Given the description of an element on the screen output the (x, y) to click on. 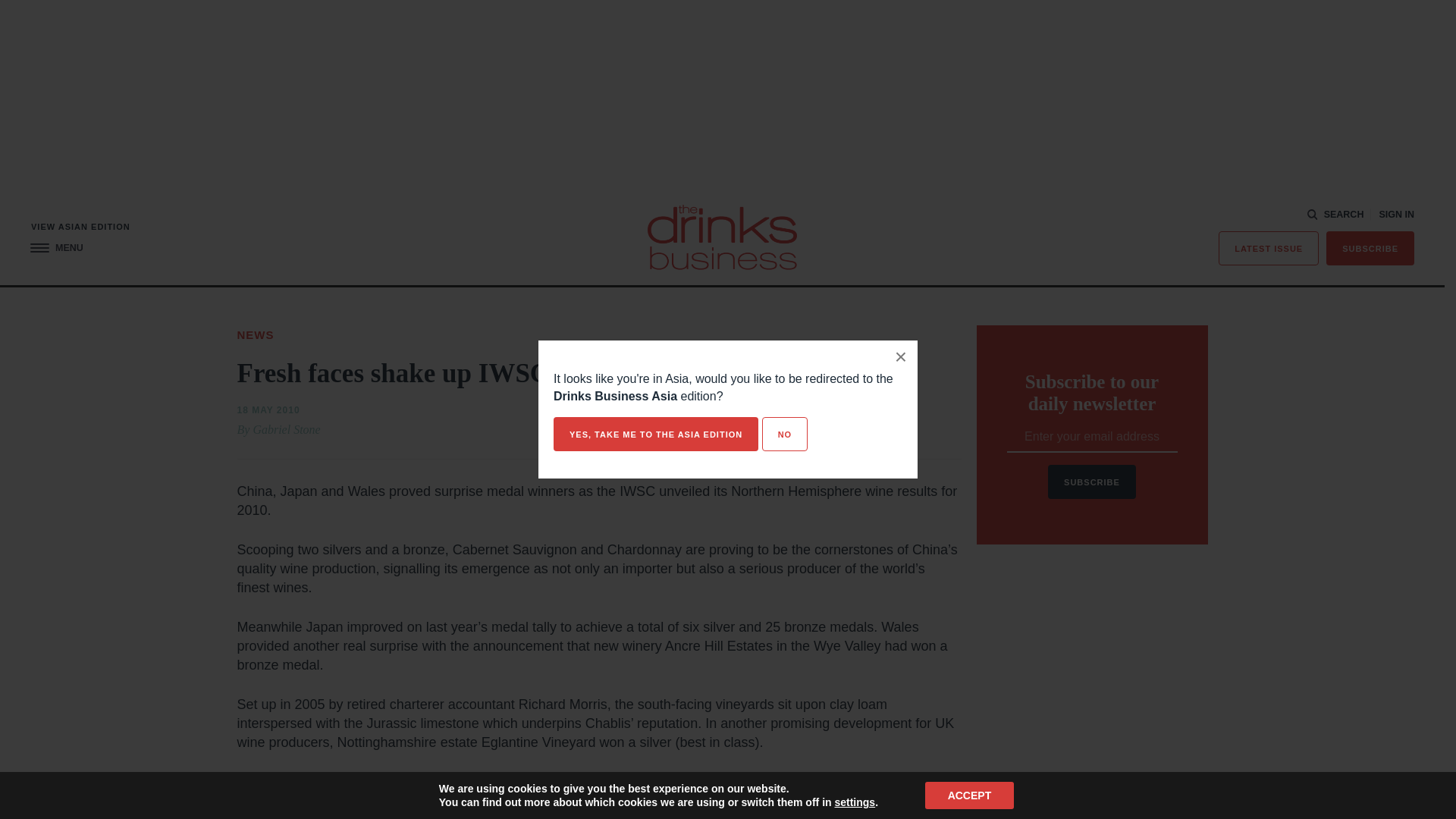
MENU (56, 248)
NO (784, 433)
YES, TAKE ME TO THE ASIA EDITION (655, 433)
VIEW ASIAN EDITION (80, 226)
SIGN IN (1395, 214)
3rd party ad content (1091, 669)
LATEST ISSUE (1268, 247)
SUBSCRIBE (1369, 247)
The Drinks Business (721, 237)
SEARCH (1335, 214)
